Given the description of an element on the screen output the (x, y) to click on. 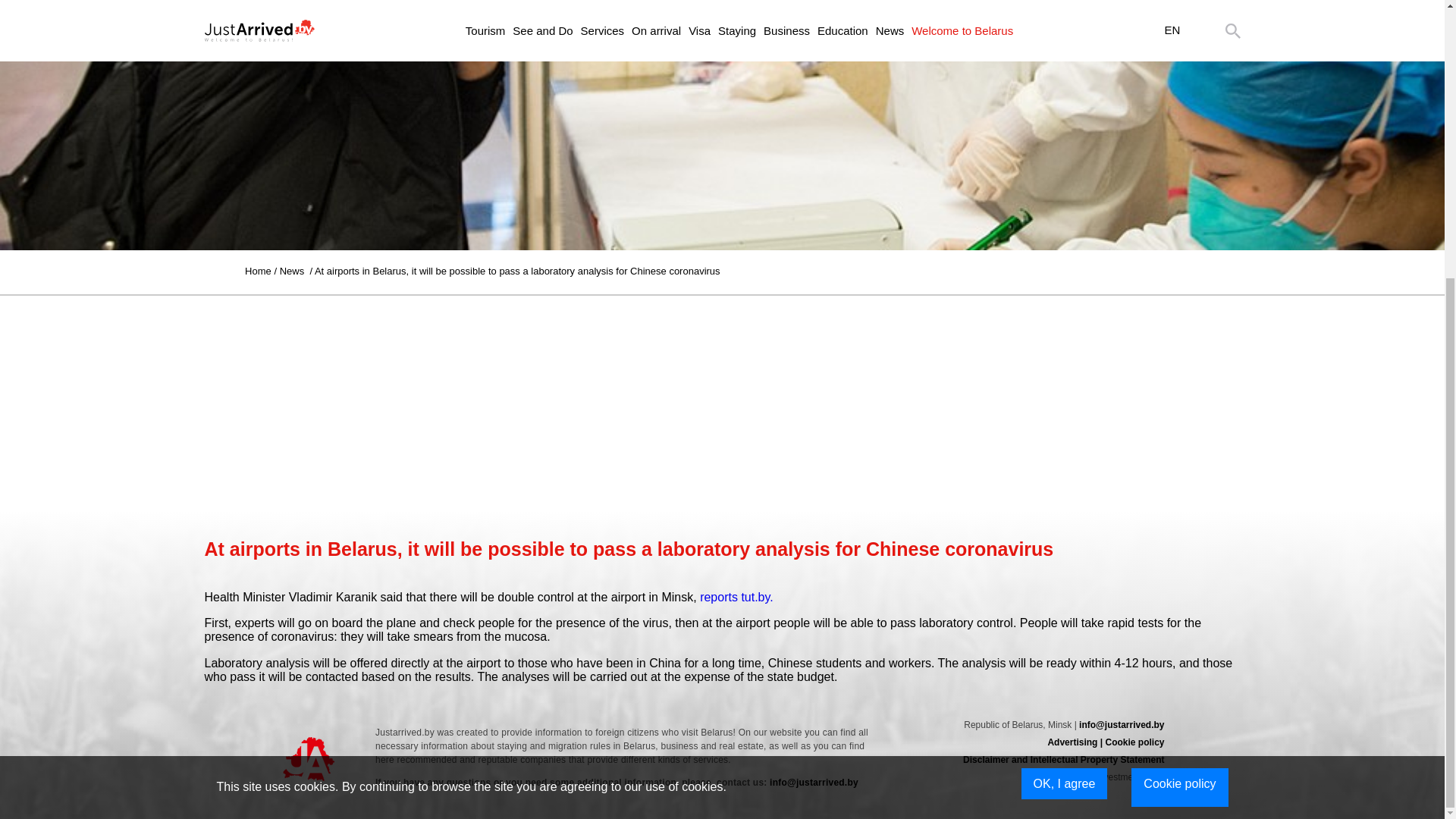
Cookie policy (1179, 373)
OK, I agree (1065, 370)
